Given the description of an element on the screen output the (x, y) to click on. 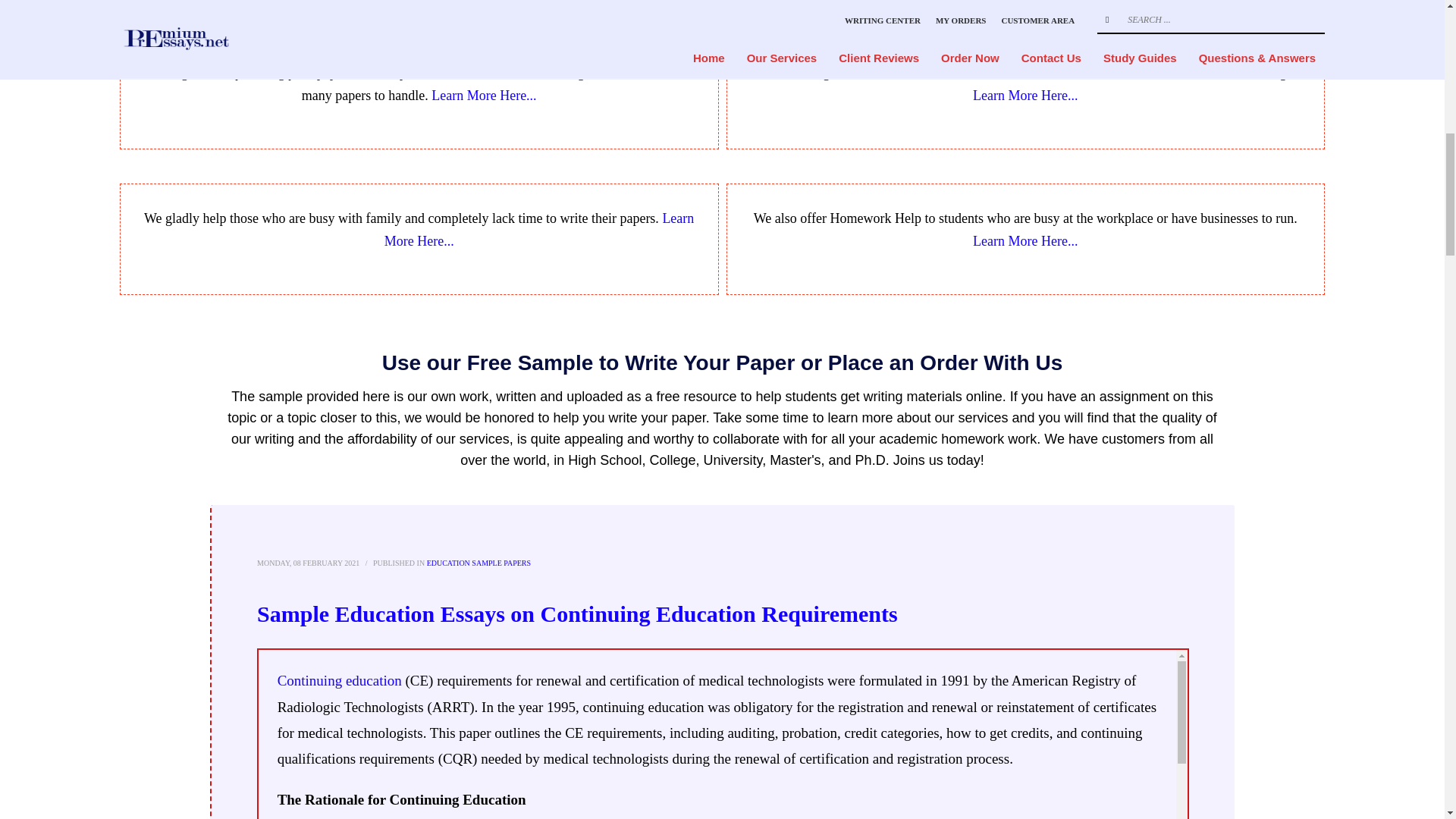
Learn More Here... (1024, 240)
EDUCATION SAMPLE PAPERS (478, 562)
Continuing education (339, 680)
Learn More Here... (1024, 95)
Learn More Here... (539, 229)
Learn More Here... (482, 95)
